Given the description of an element on the screen output the (x, y) to click on. 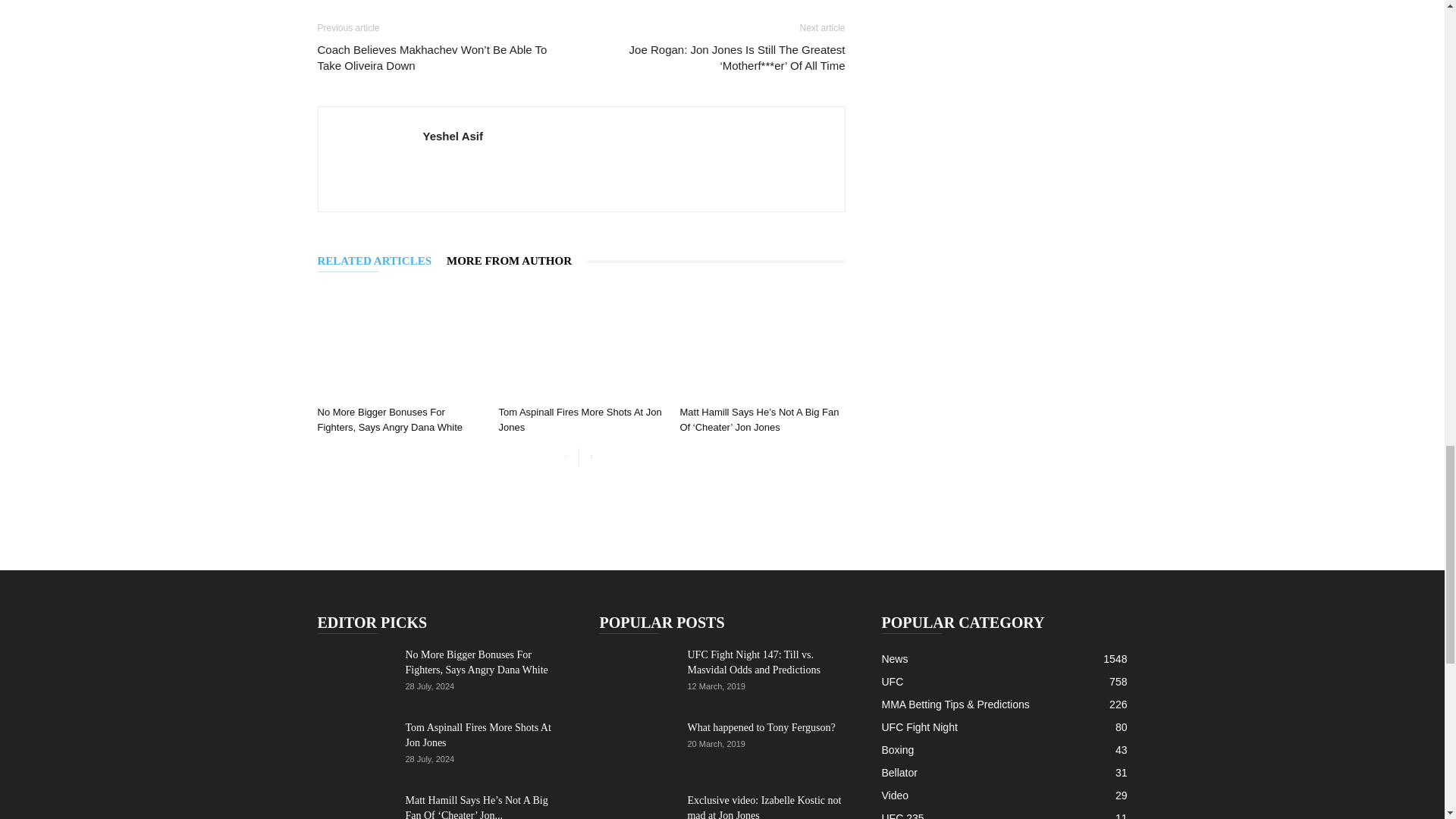
No More Bigger Bonuses For Fighters, Says Angry Dana White (389, 419)
No More Bigger Bonuses For Fighters, Says Angry Dana White (399, 342)
